Given the description of an element on the screen output the (x, y) to click on. 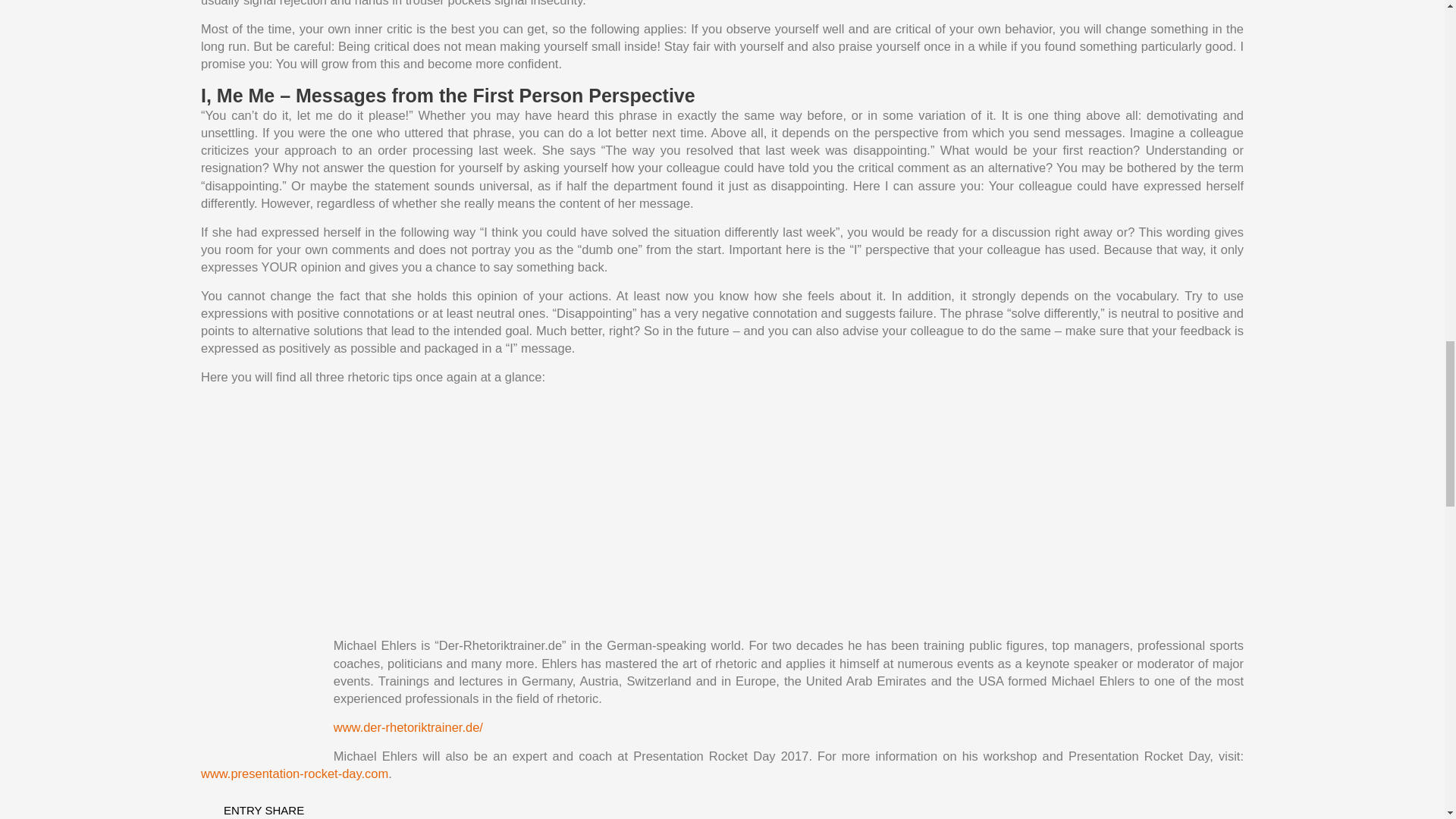
www.presentation-rocket-day.com (294, 773)
